Given the description of an element on the screen output the (x, y) to click on. 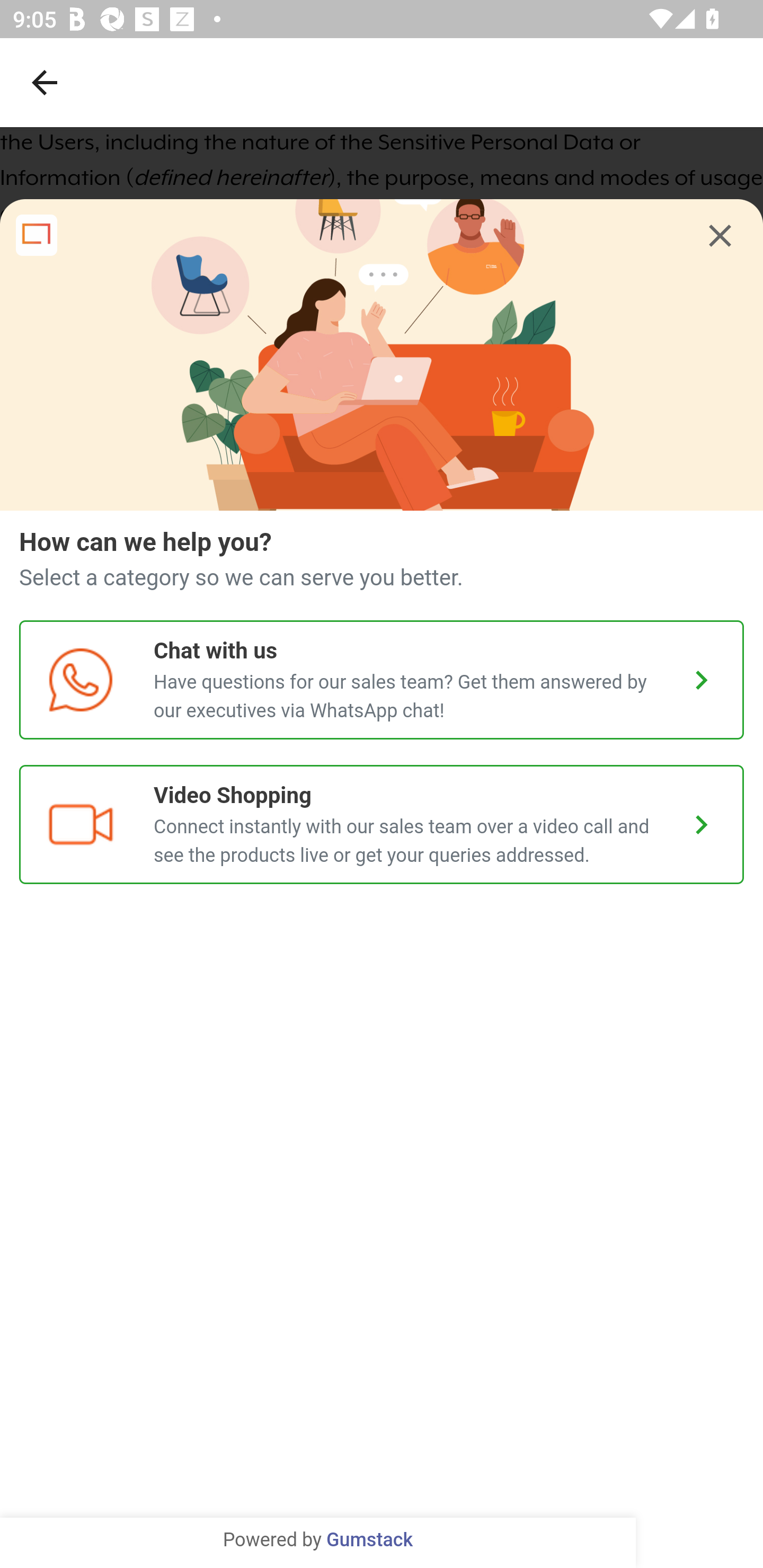
Navigate up (44, 82)
clear (720, 237)
Gumstack (369, 1540)
